Given the description of an element on the screen output the (x, y) to click on. 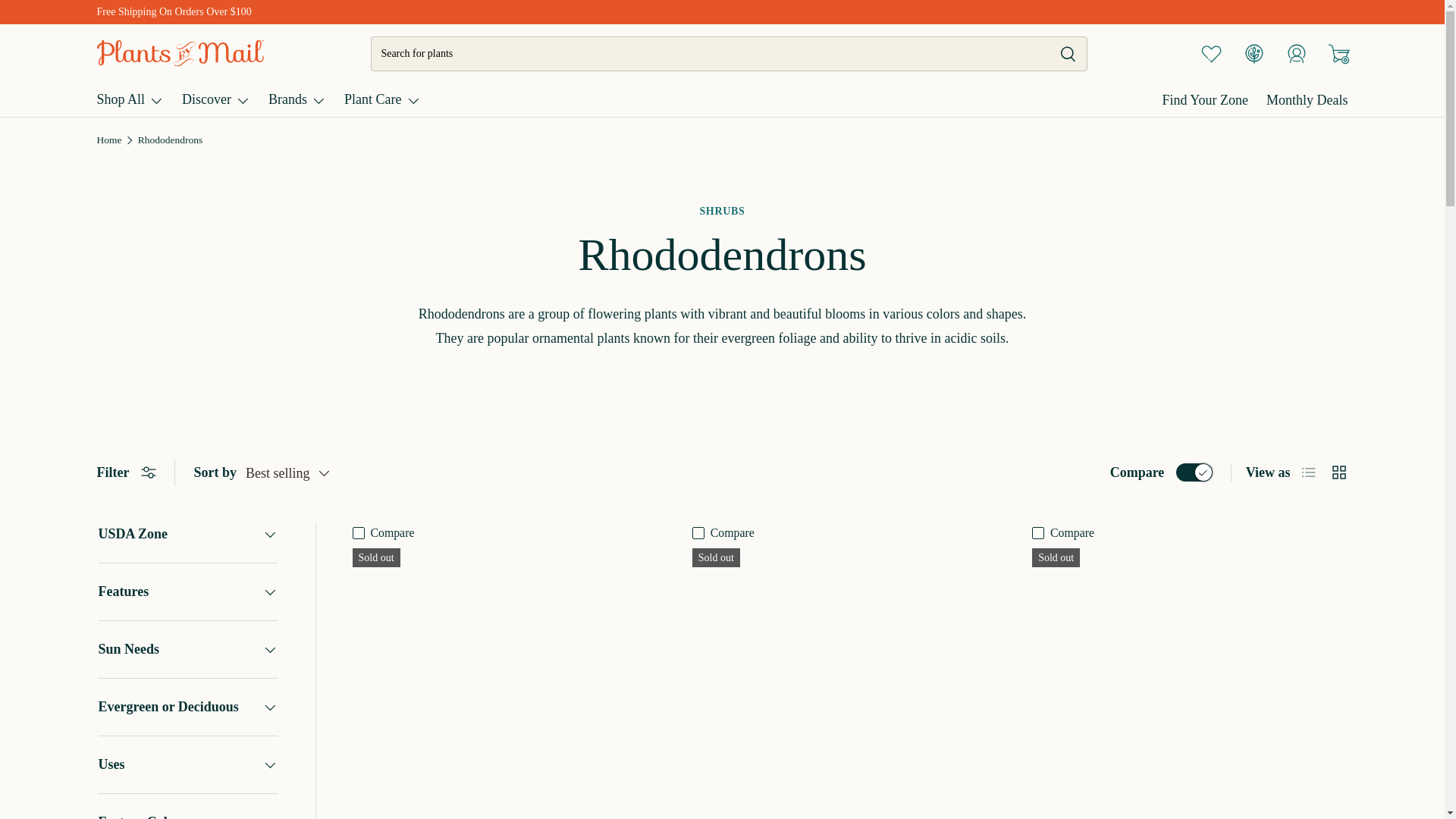
SKIP TO CONTENT (84, 28)
Cart (1338, 52)
Log in (1296, 52)
Search (1059, 54)
Shop All (130, 99)
